Given the description of an element on the screen output the (x, y) to click on. 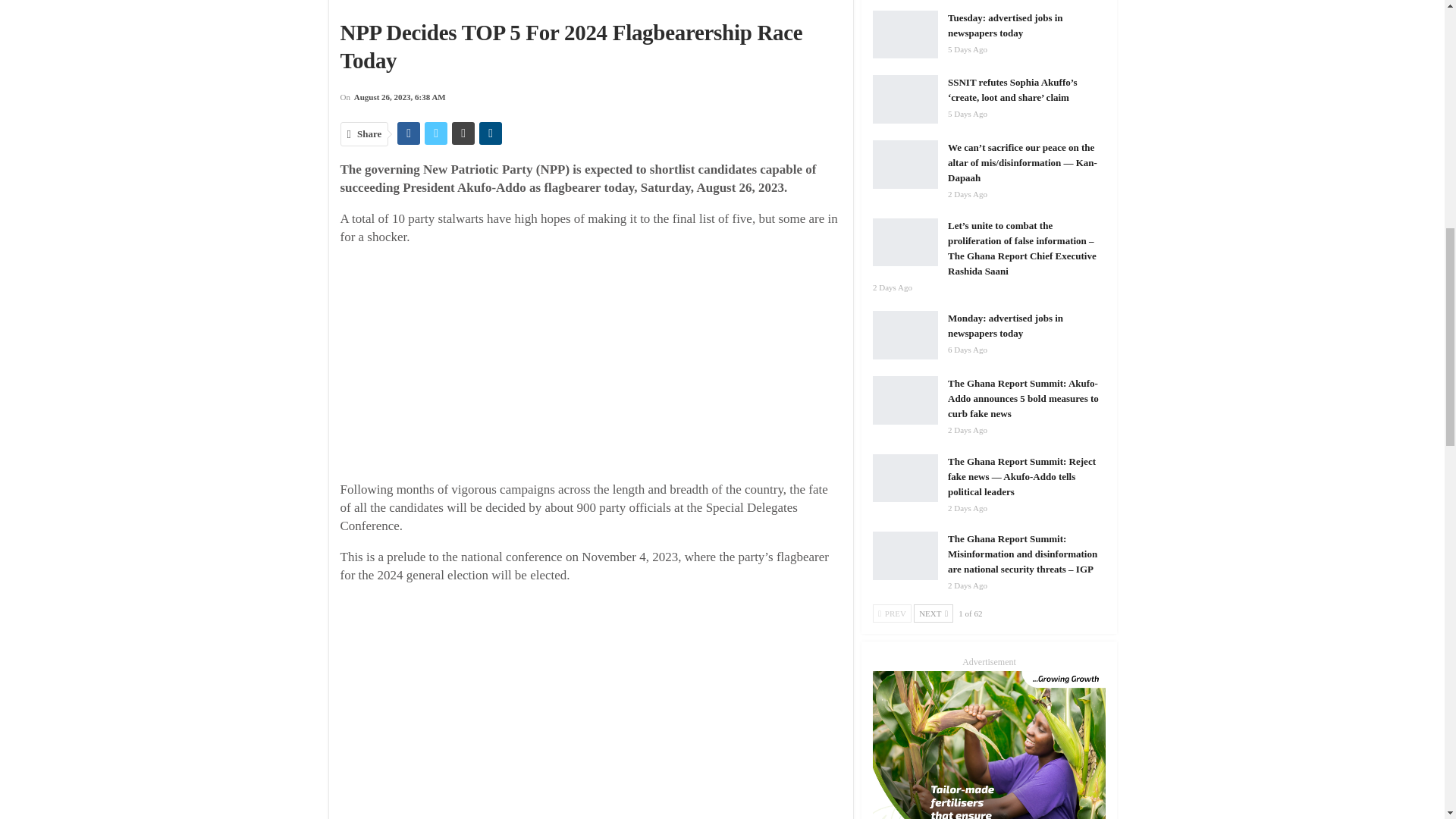
Advertisement (601, 365)
Advertisement (601, 703)
Headlines (453, 3)
